Given the description of an element on the screen output the (x, y) to click on. 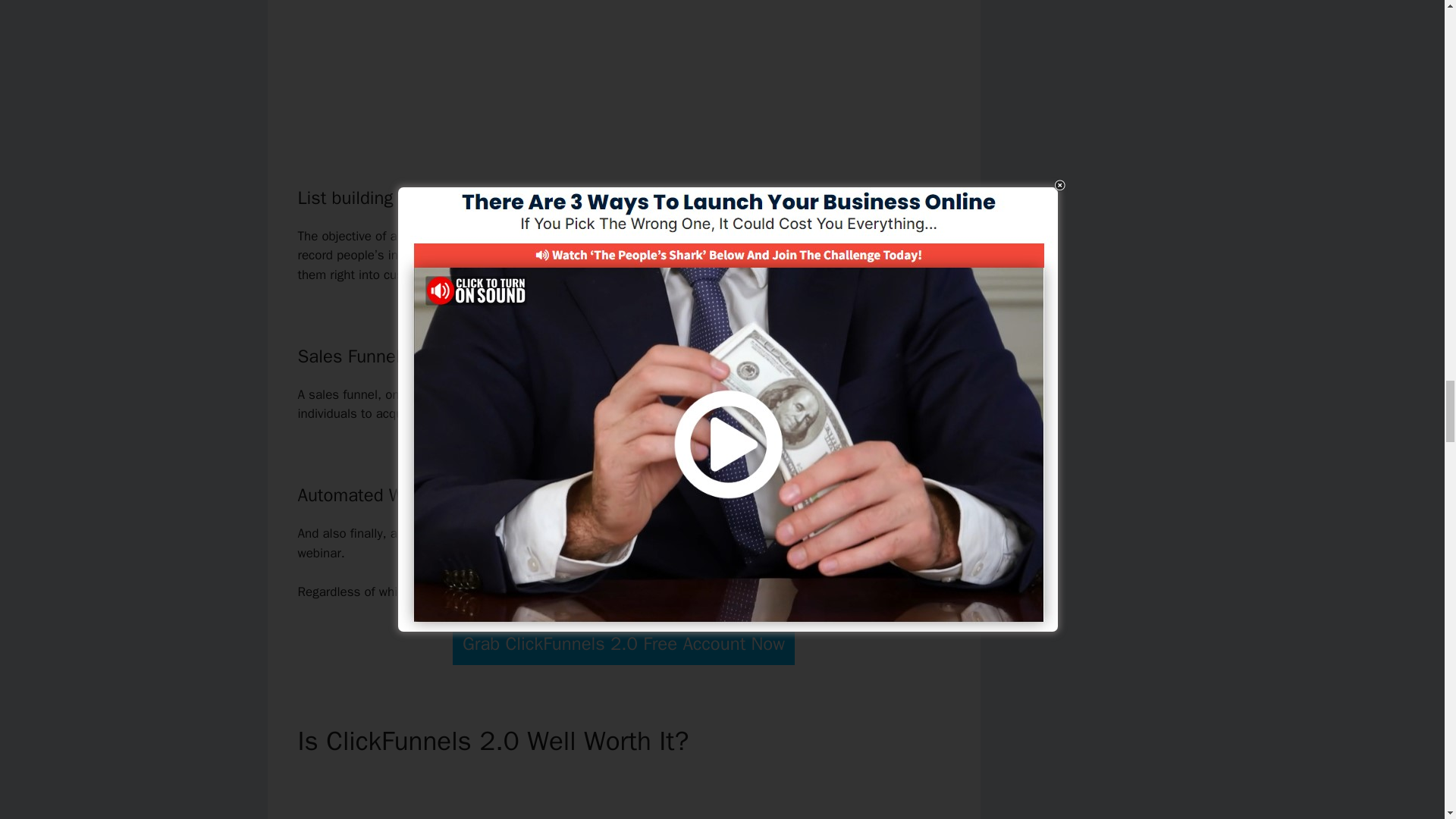
Grab ClickFunnels 2.0 Free Account Now (623, 644)
